Given the description of an element on the screen output the (x, y) to click on. 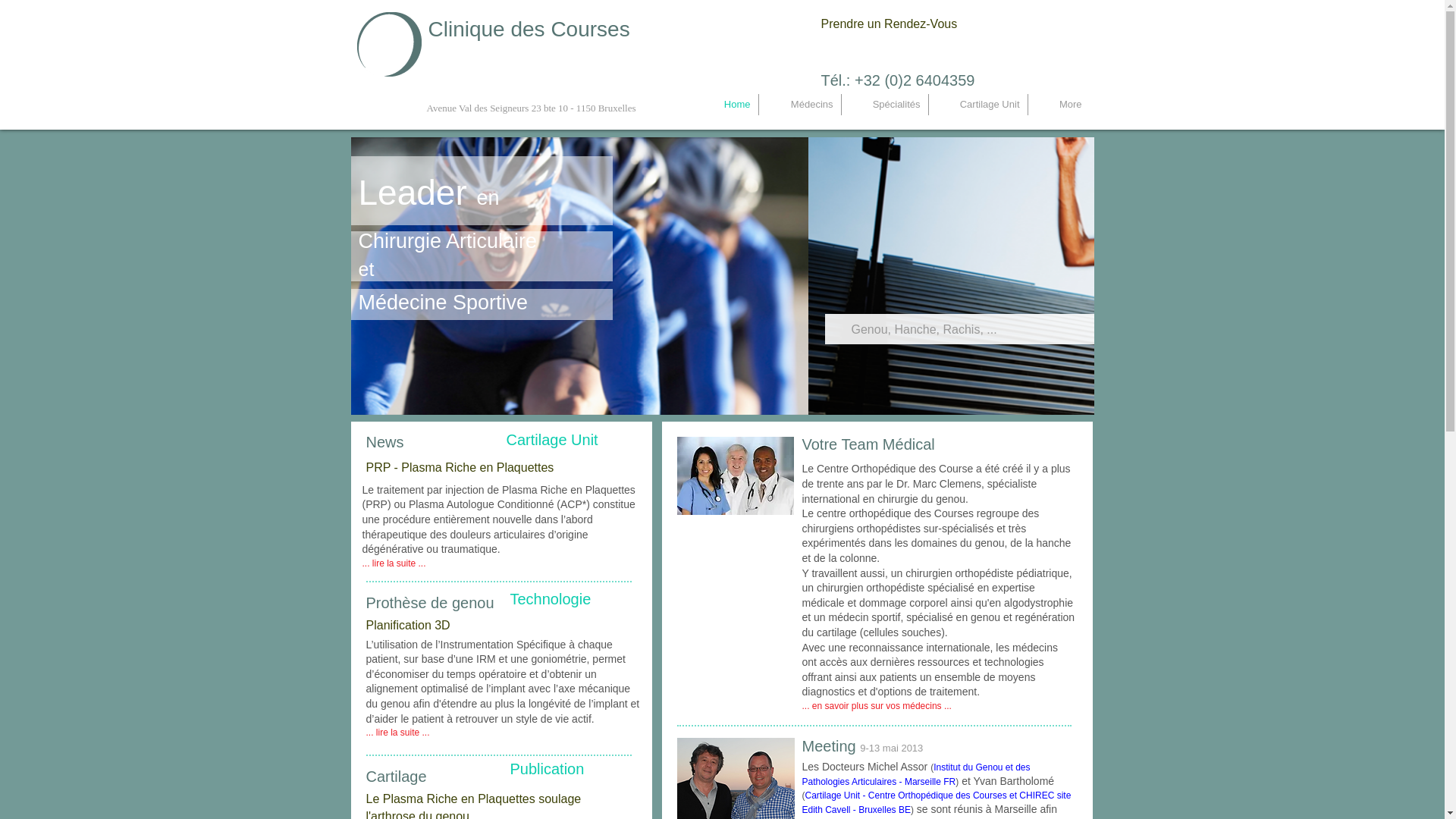
Home Element type: text (724, 104)
... lire la suite ... Element type: text (394, 563)
... lire la suite ... Element type: text (397, 732)
Cartilage Unit Element type: text (977, 104)
